Given the description of an element on the screen output the (x, y) to click on. 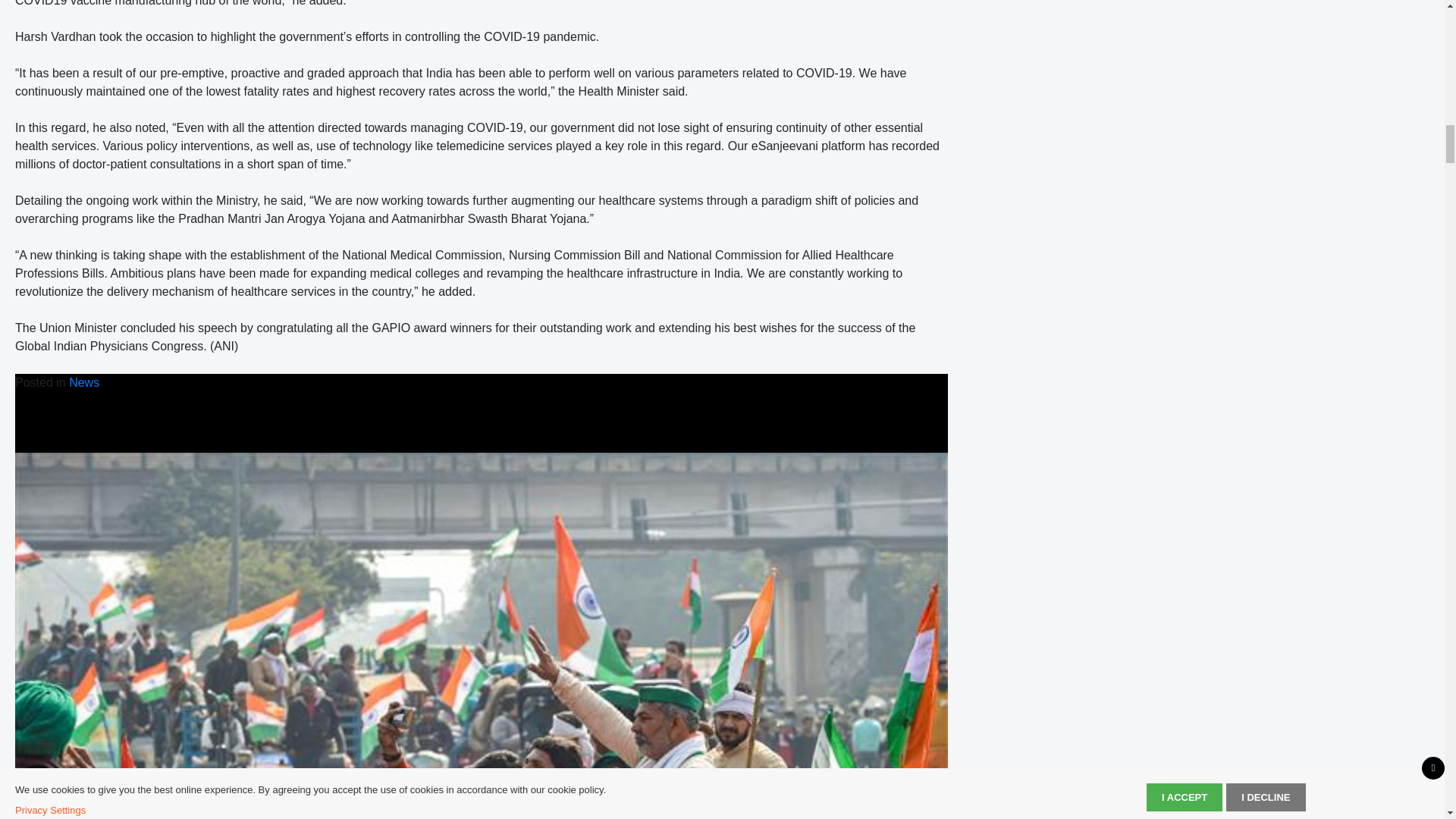
News (83, 382)
